Given the description of an element on the screen output the (x, y) to click on. 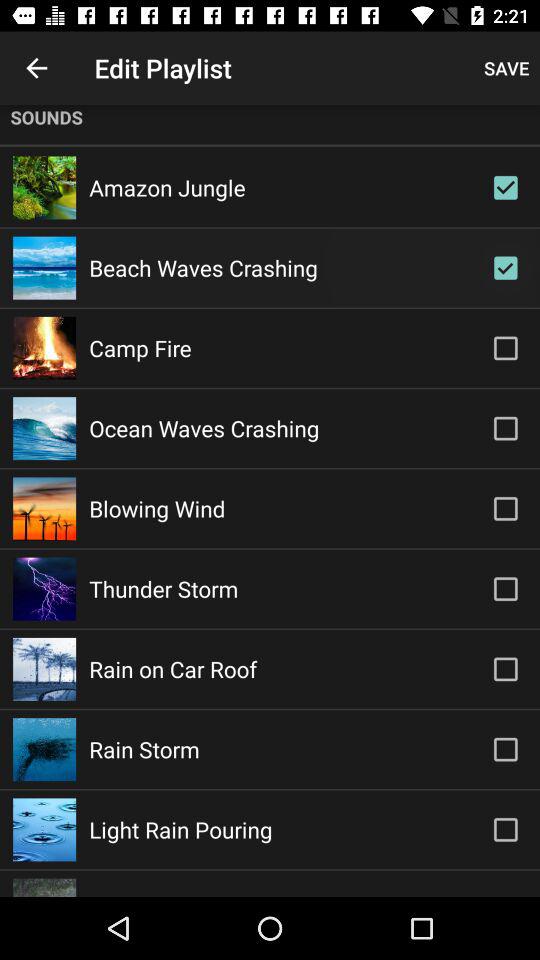
select the image beside beach crashing (44, 268)
select the image beside camp fire (44, 348)
select the image left to ocean waves crashing (44, 428)
click the image at left side of amazon jungle (44, 186)
click the icon left side of light rain pouring (44, 829)
select the icon left to the thunder storm button (44, 589)
select the bottom image under edit playlist (44, 887)
